Given the description of an element on the screen output the (x, y) to click on. 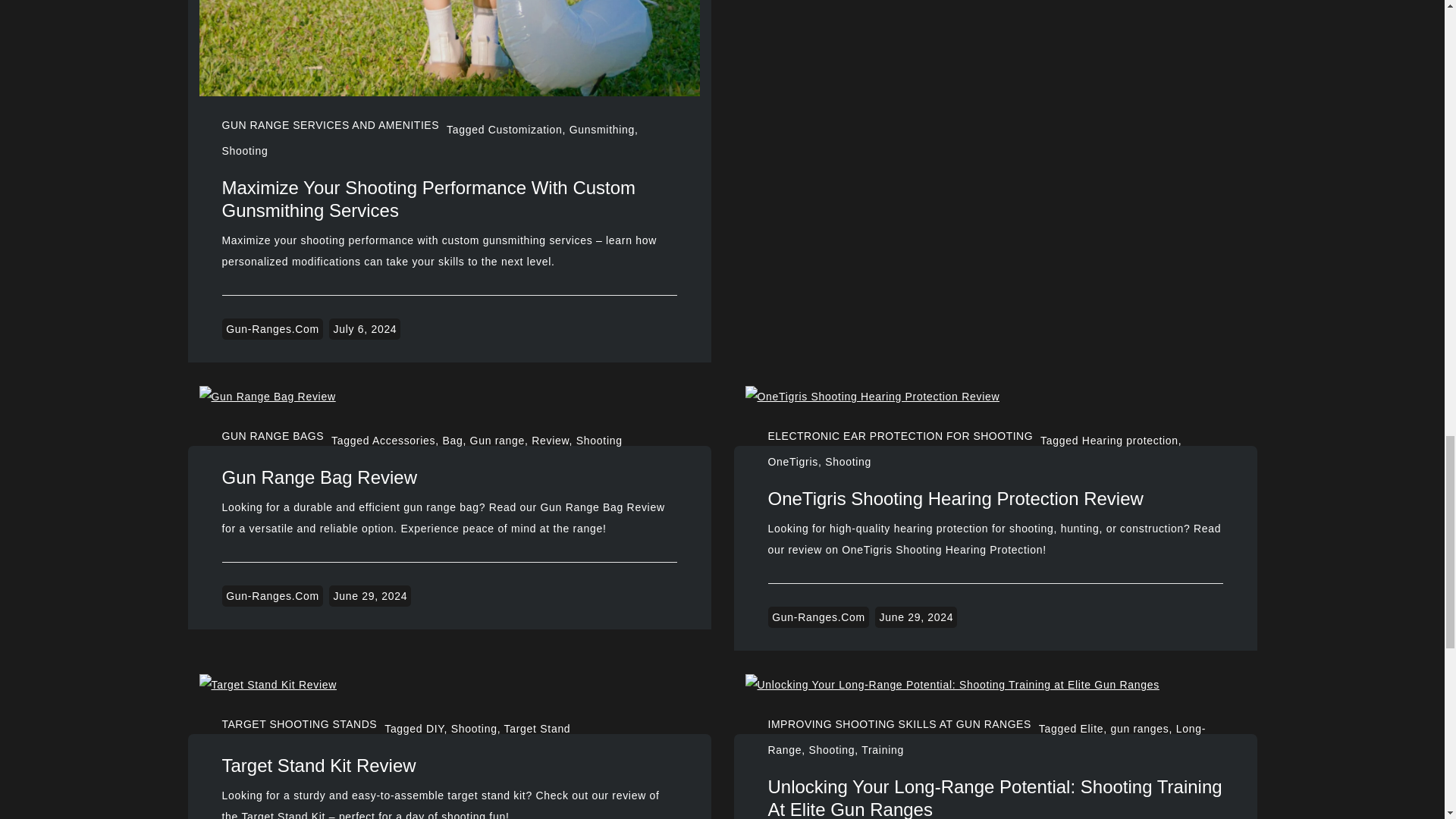
Gunsmithing (601, 129)
Customization (524, 129)
Shooting (244, 150)
GUN RANGE SERVICES AND AMENITIES (329, 124)
